Given the description of an element on the screen output the (x, y) to click on. 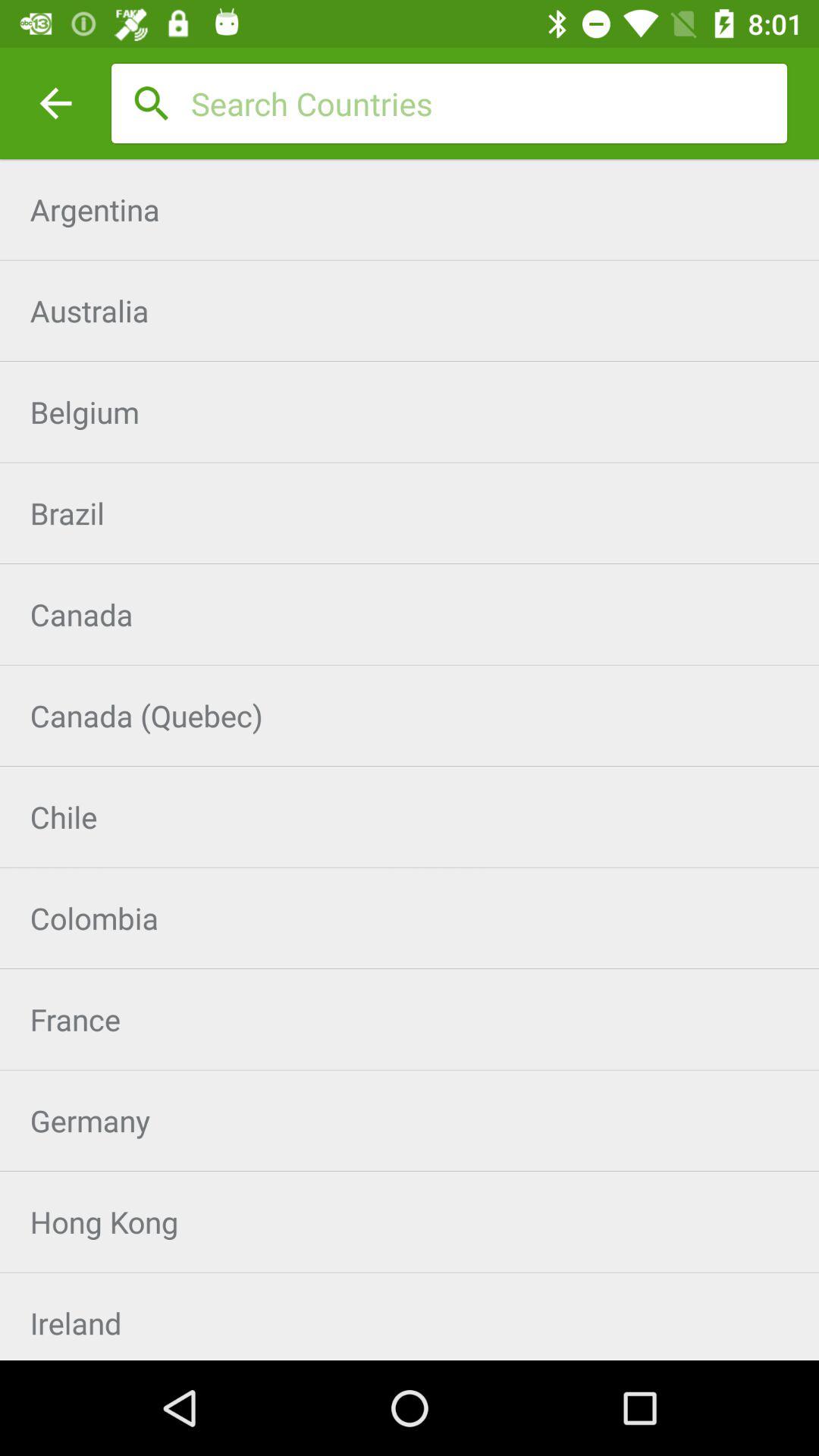
flip until argentina (409, 209)
